Given the description of an element on the screen output the (x, y) to click on. 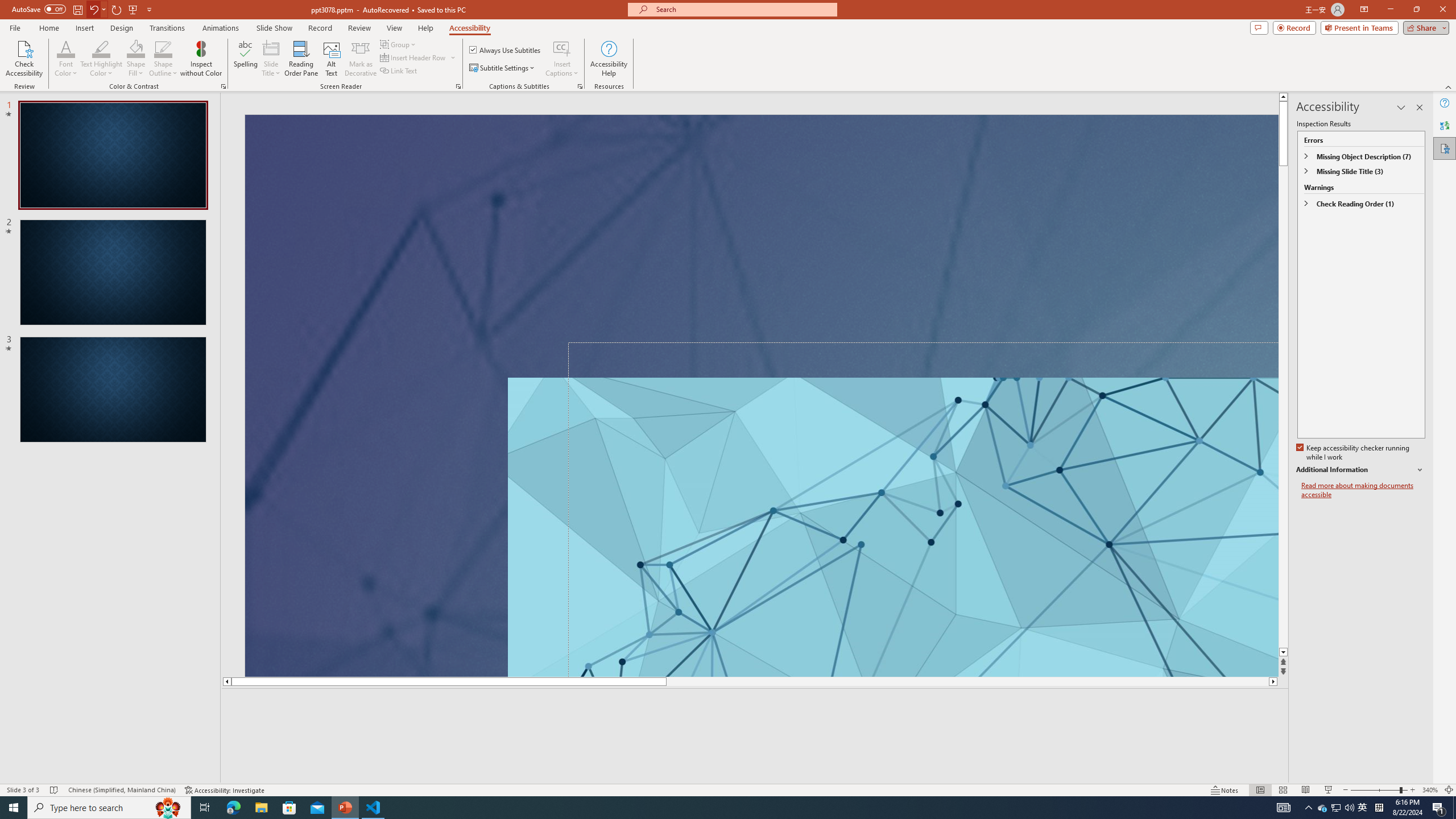
Mark as Decorative (360, 58)
